Given the description of an element on the screen output the (x, y) to click on. 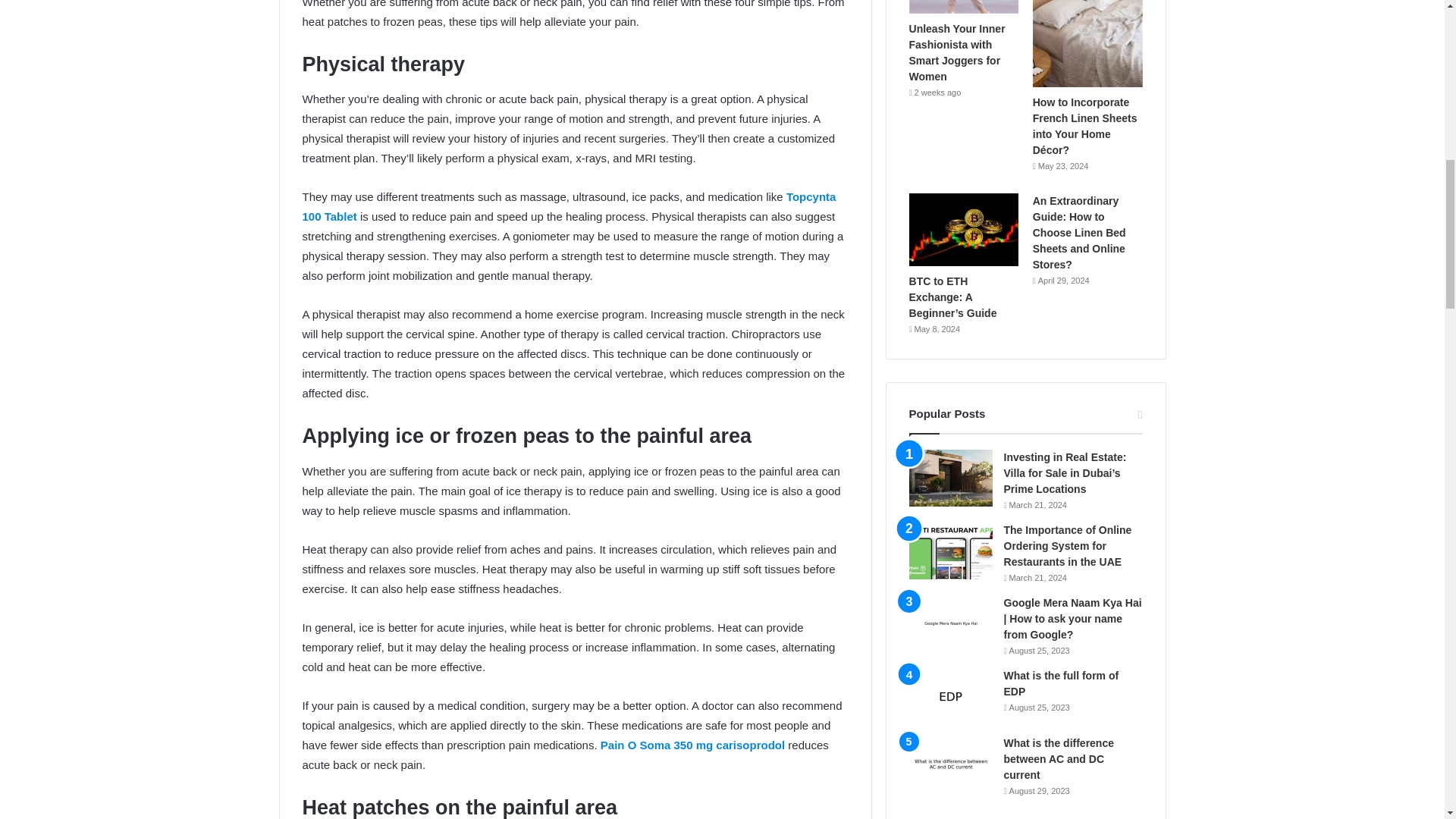
Topcynta 100 Tablet (568, 206)
Pain O Soma 350 mg carisoprodol (691, 744)
